Given the description of an element on the screen output the (x, y) to click on. 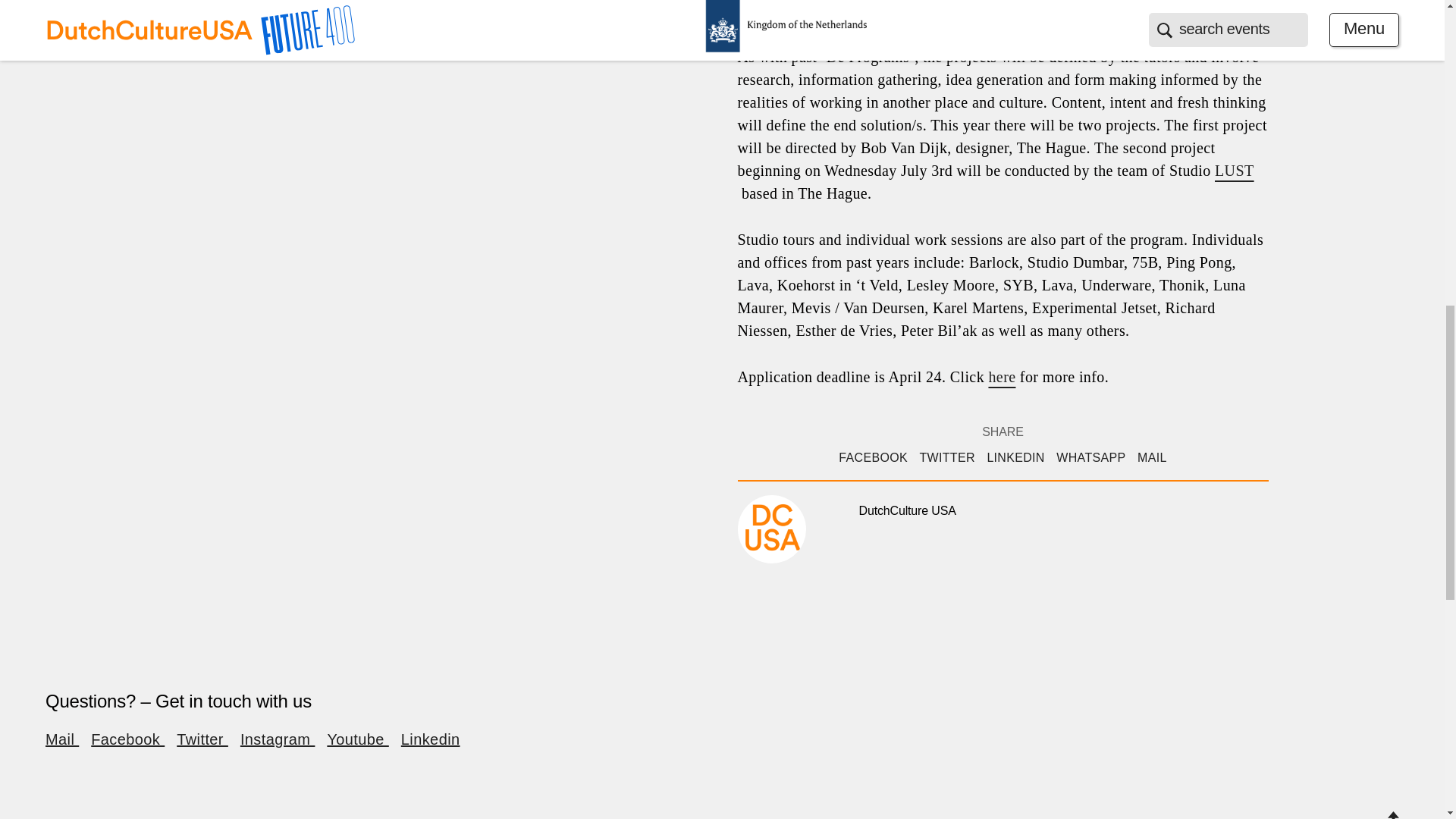
MAIL (1152, 457)
Twitter (202, 739)
LINKEDIN (1015, 457)
Facebook (127, 739)
Instagram (277, 739)
WHATSAPP (1091, 457)
Bob Van Dijk (864, 11)
here (1001, 376)
TWITTER (946, 457)
LUST (1233, 169)
